Given the description of an element on the screen output the (x, y) to click on. 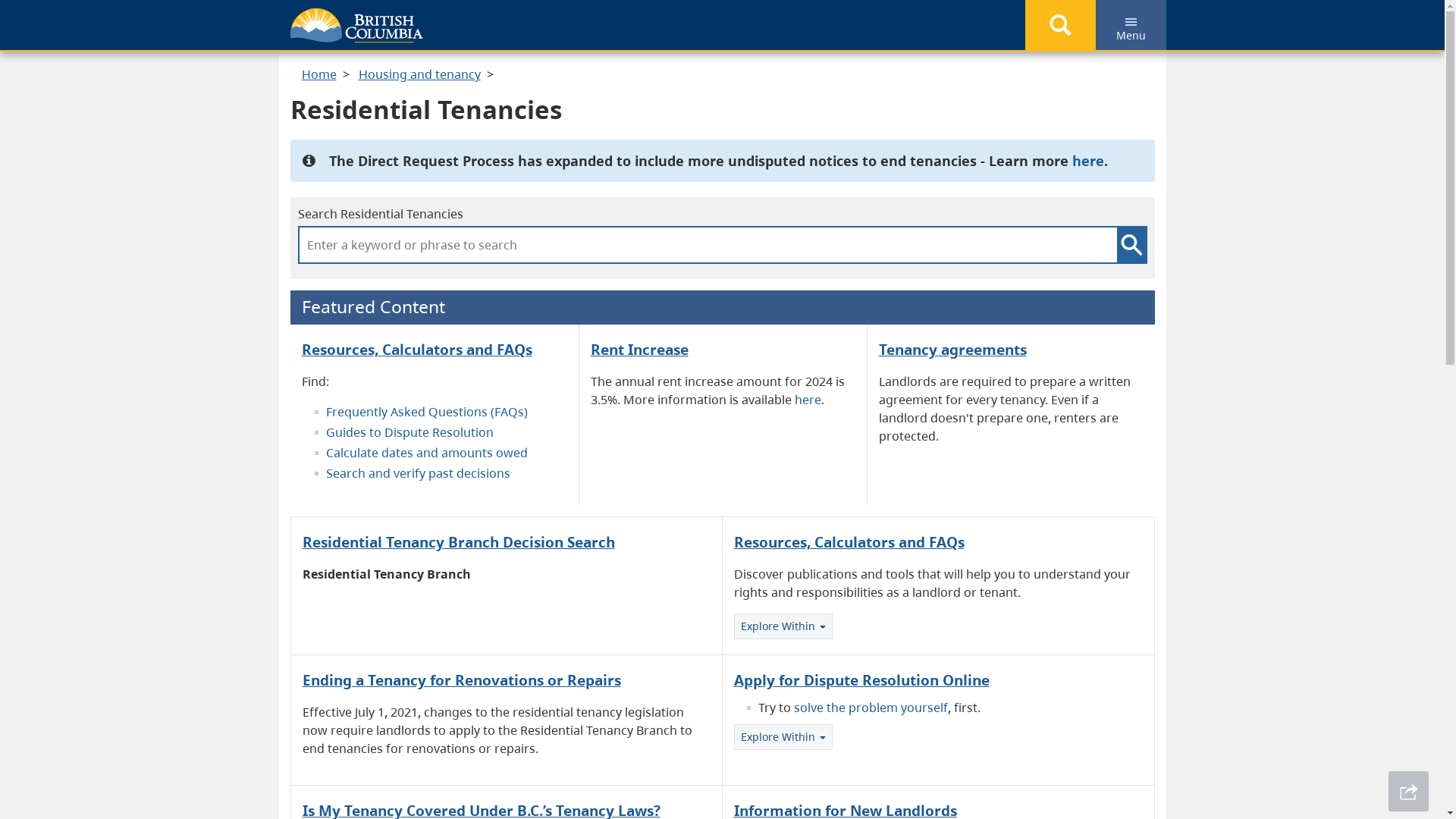
Guides to Dispute Resolution  Element type: text (411, 431)
Apply for Dispute Resolution Online Element type: text (861, 679)
Home Element type: text (318, 73)
Share This Page Element type: hover (1408, 791)
Menu Element type: text (1130, 25)
here Element type: text (1088, 160)
Resources, Calculators and FAQs Element type: text (416, 348)
Residential Tenancy Branch Decision Search Element type: text (457, 541)
Government of B.C. Element type: hover (355, 25)
here Element type: text (807, 399)
Calculate dates and amounts owed Element type: text (426, 452)
Housing and tenancy Element type: text (418, 73)
Resources, Calculators and FAQs Element type: text (849, 541)
Rent Increase Element type: text (638, 348)
Ending a Tenancy for Renovations or Repairs Element type: text (460, 679)
Tenancy agreements Element type: text (952, 348)
solve the problem yourself Element type: text (870, 707)
Search and verify past decisions Element type: text (418, 472)
Frequently Asked Questions (FAQs) Element type: text (426, 411)
